Given the description of an element on the screen output the (x, y) to click on. 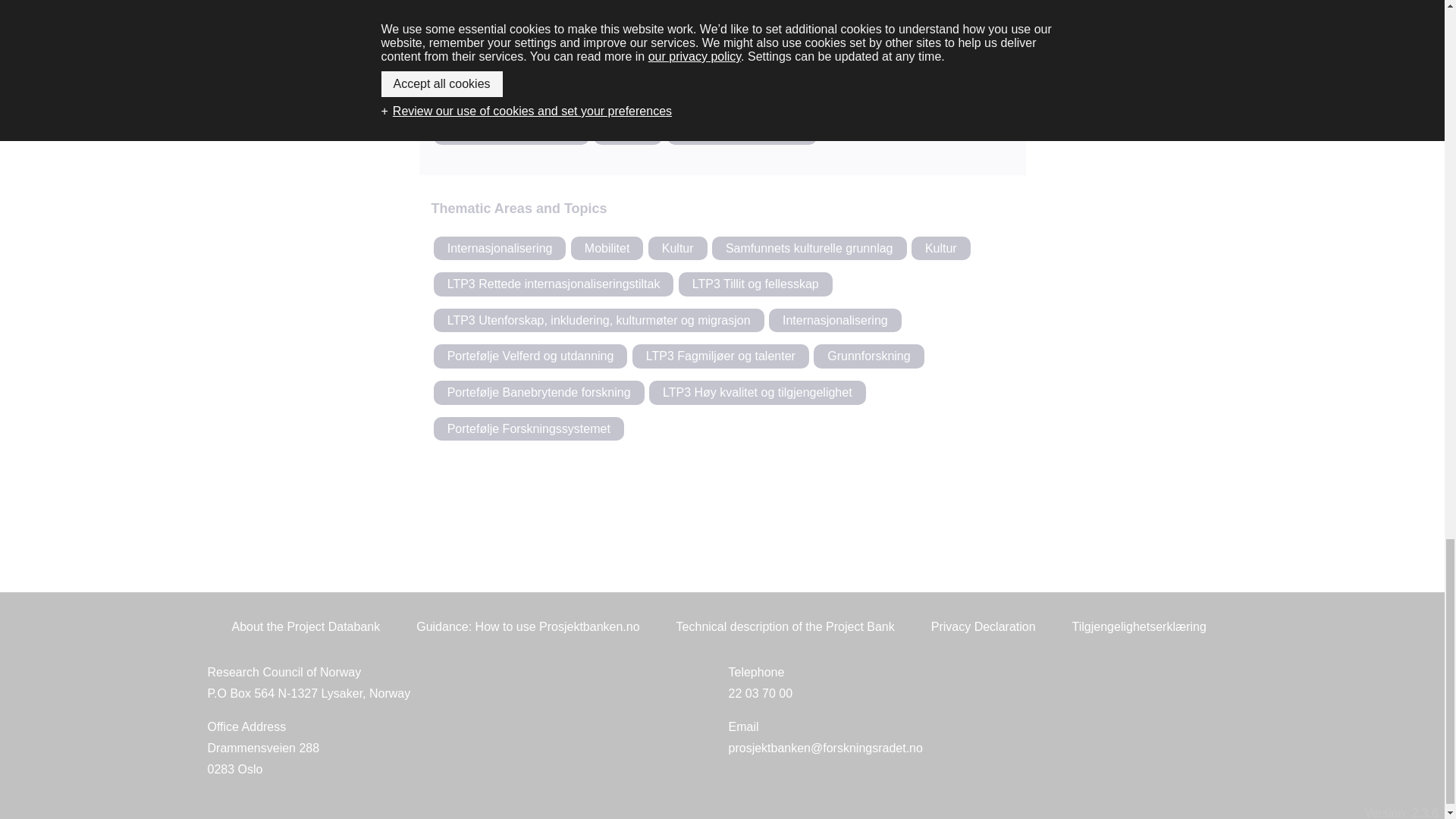
Samfunnets kulturelle grunnlag (809, 248)
LTP3 Rettede internasjonaliseringstiltak (553, 283)
Forsvarsdepartemente (741, 132)
Kunnskapsdepartement (511, 132)
Mobilitet (606, 248)
LTP3 Tillit og fellesskap (755, 283)
Kultur (916, 11)
Internasjonalisering (677, 248)
Kultur (834, 320)
Diverse (941, 248)
Internasjonalisering (628, 132)
